Given the description of an element on the screen output the (x, y) to click on. 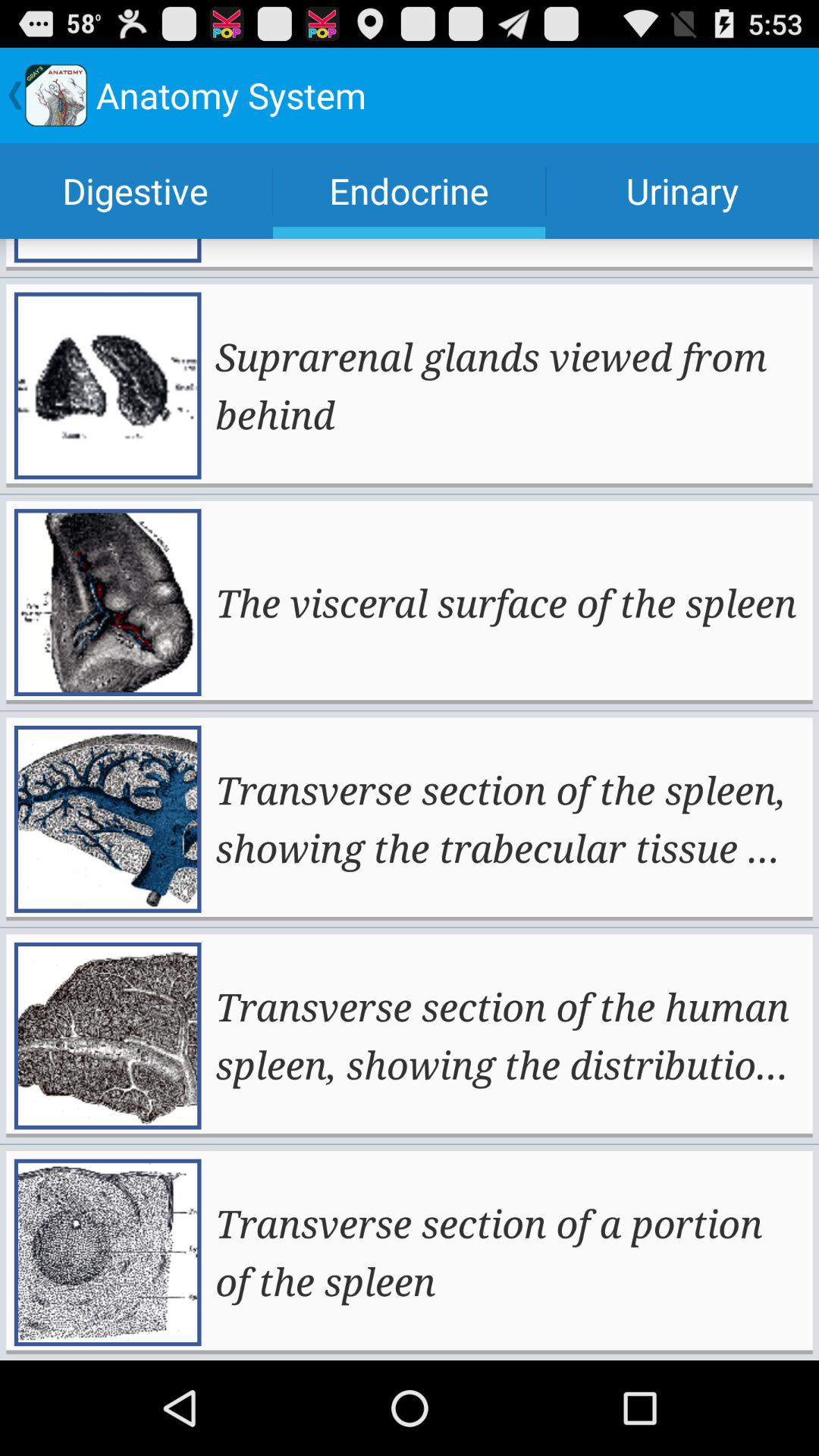
click the app below the suprarenal glands viewed (505, 602)
